Given the description of an element on the screen output the (x, y) to click on. 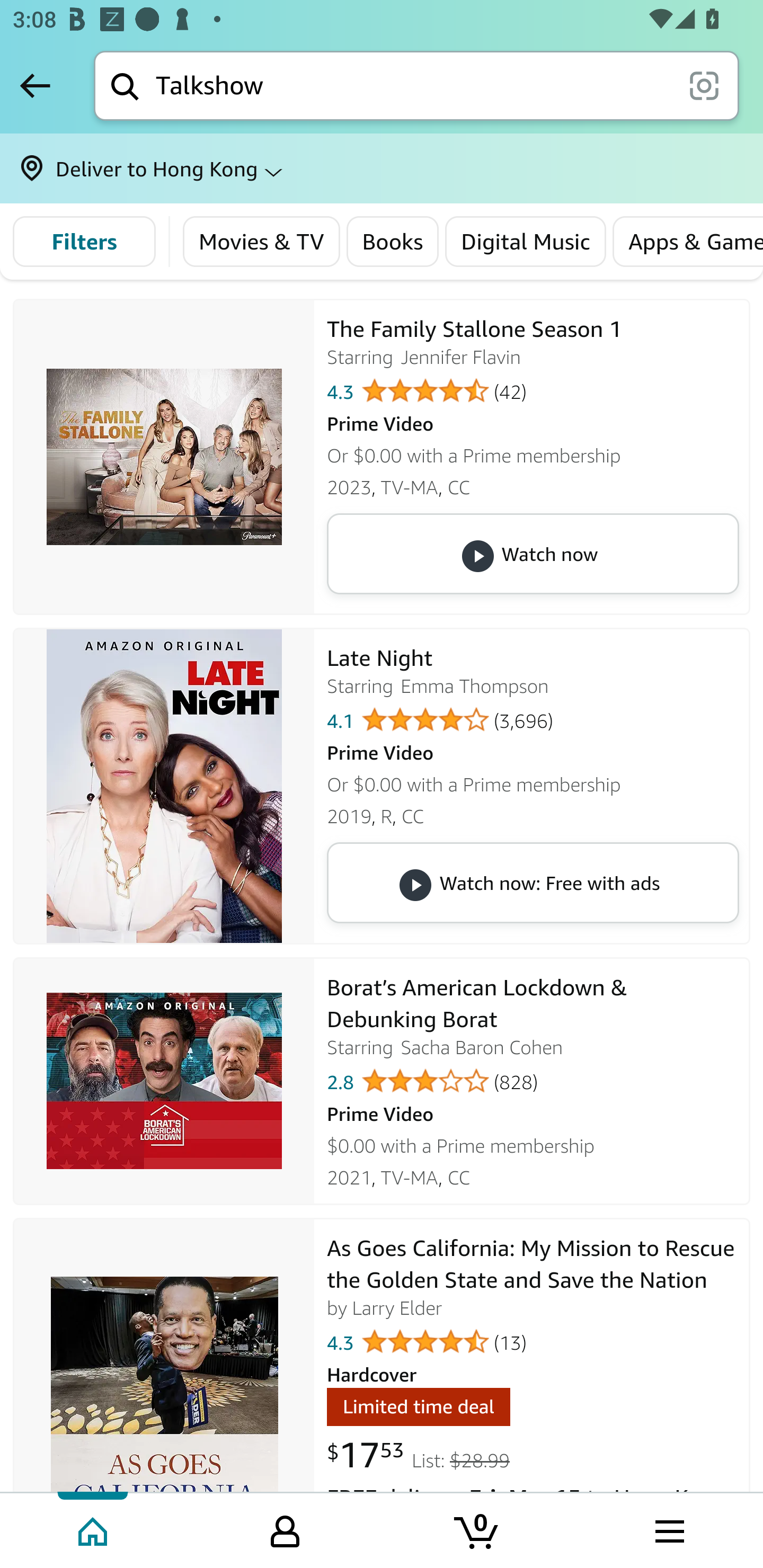
Back (35, 85)
Search Search Talkshow scan it (416, 85)
scan it (704, 85)
Deliver to Hong Kong ⌵ (381, 168)
Filters (83, 241)
Movies & TV (261, 241)
Books (392, 241)
Digital Music (525, 241)
The Family Stallone Season 1 (164, 457)
Watch now (532, 553)
Late Night (164, 785)
Watch now: Free with ads (532, 881)
Borat’s American Lockdown & Debunking Borat (164, 1081)
Limited time deal (417, 1409)
Home Tab 1 of 4 (94, 1529)
Your Amazon.com Tab 2 of 4 (285, 1529)
Cart 0 item Tab 3 of 4 0 (477, 1529)
Browse menu Tab 4 of 4 (668, 1529)
